Given the description of an element on the screen output the (x, y) to click on. 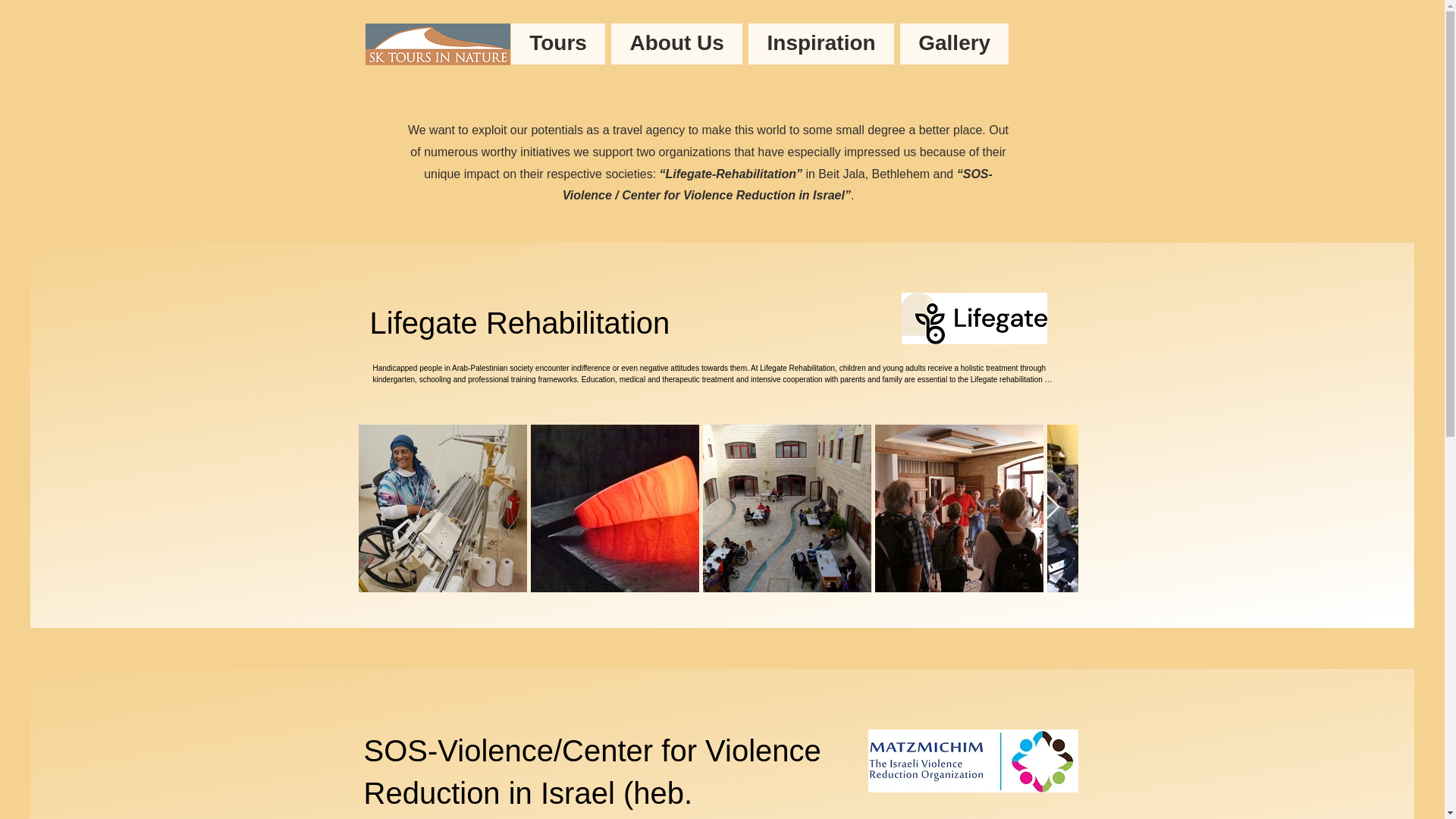
Home (457, 43)
download.png (973, 317)
